Given the description of an element on the screen output the (x, y) to click on. 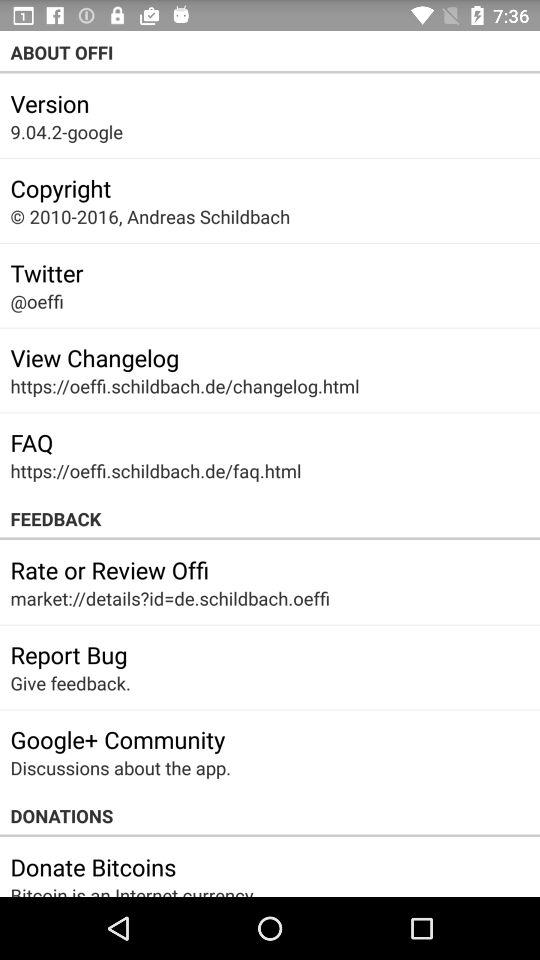
click the view changelog icon (94, 357)
